Given the description of an element on the screen output the (x, y) to click on. 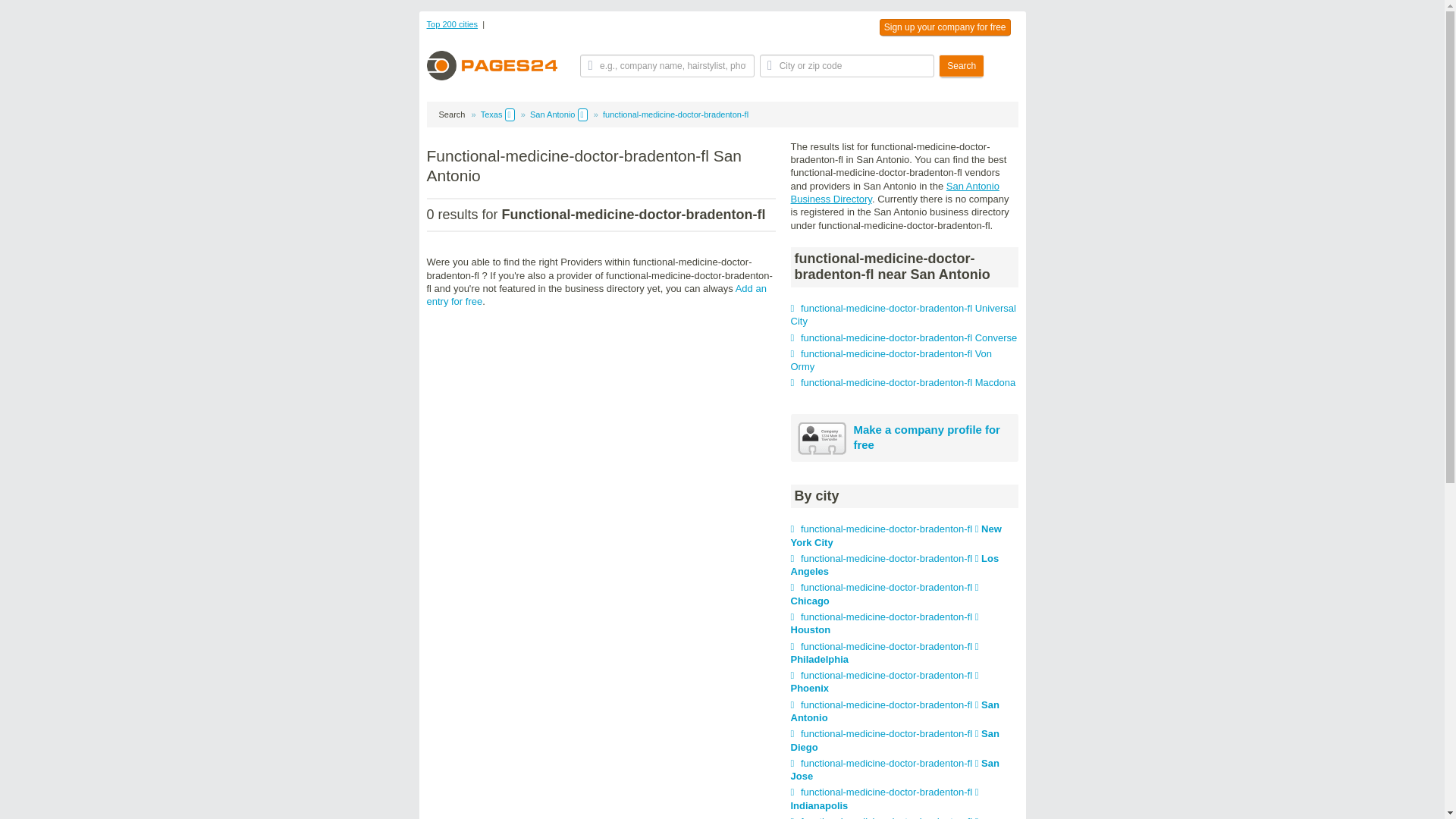
Top 200 cities (451, 23)
functional-medicine-doctor-bradenton-fl New York City (895, 535)
Add an entry for free (595, 294)
functional-medicine-doctor-bradenton-fl (675, 113)
functional-medicine-doctor-bradenton-fl Universal City (902, 314)
Search (961, 65)
San Antonio Business Directory (894, 192)
functional-medicine-doctor-bradenton-fl Von Ormy (890, 360)
Sign Up (944, 27)
functional-medicine-doctor-bradenton-fl Universal City (902, 314)
